Given the description of an element on the screen output the (x, y) to click on. 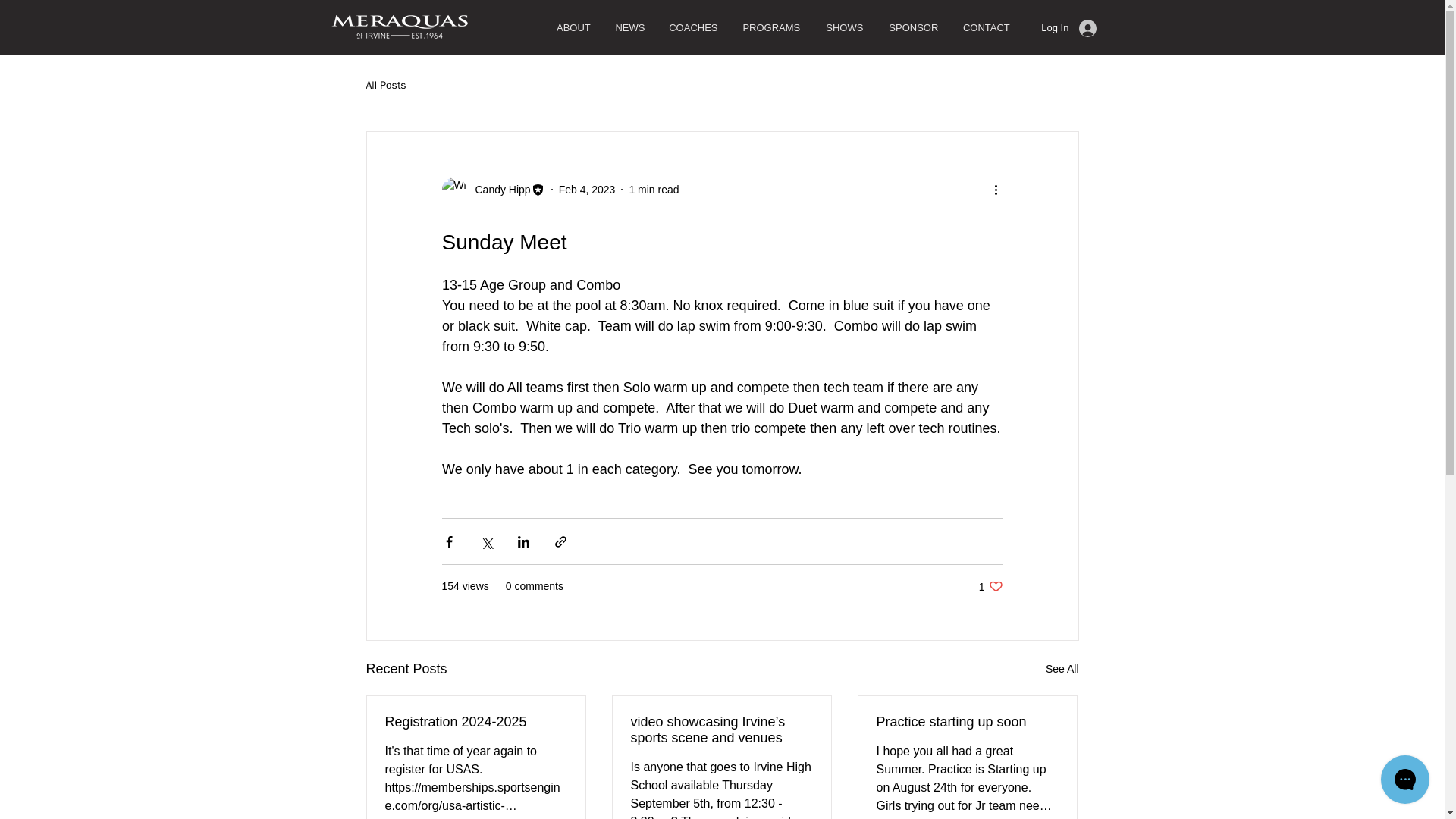
Registration 2024-2025 (476, 722)
Practice starting up soon (967, 722)
Candy Hipp (492, 189)
CONTACT (986, 27)
All Posts (385, 85)
SHOWS (844, 27)
MQI logo.webp (399, 26)
Candy Hipp (497, 189)
SPONSOR (913, 27)
PROGRAMS (770, 27)
